Given the description of an element on the screen output the (x, y) to click on. 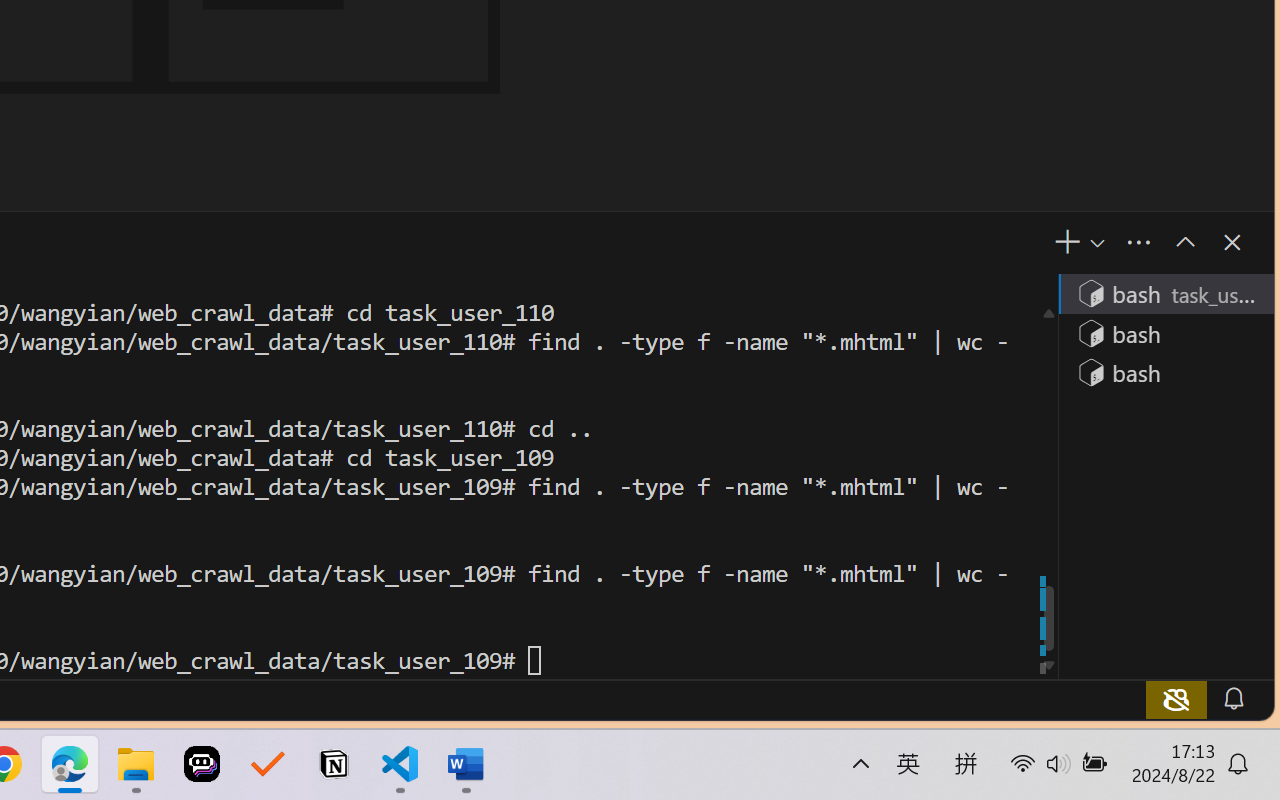
copilot-notconnected, Copilot error (click for details) (1175, 698)
Terminal 2 bash (1165, 332)
Class: xterm-decoration-overview-ruler (1047, 486)
Notifications (1232, 698)
Terminal 1 bash (1165, 292)
Views and More Actions... (1137, 243)
